Given the description of an element on the screen output the (x, y) to click on. 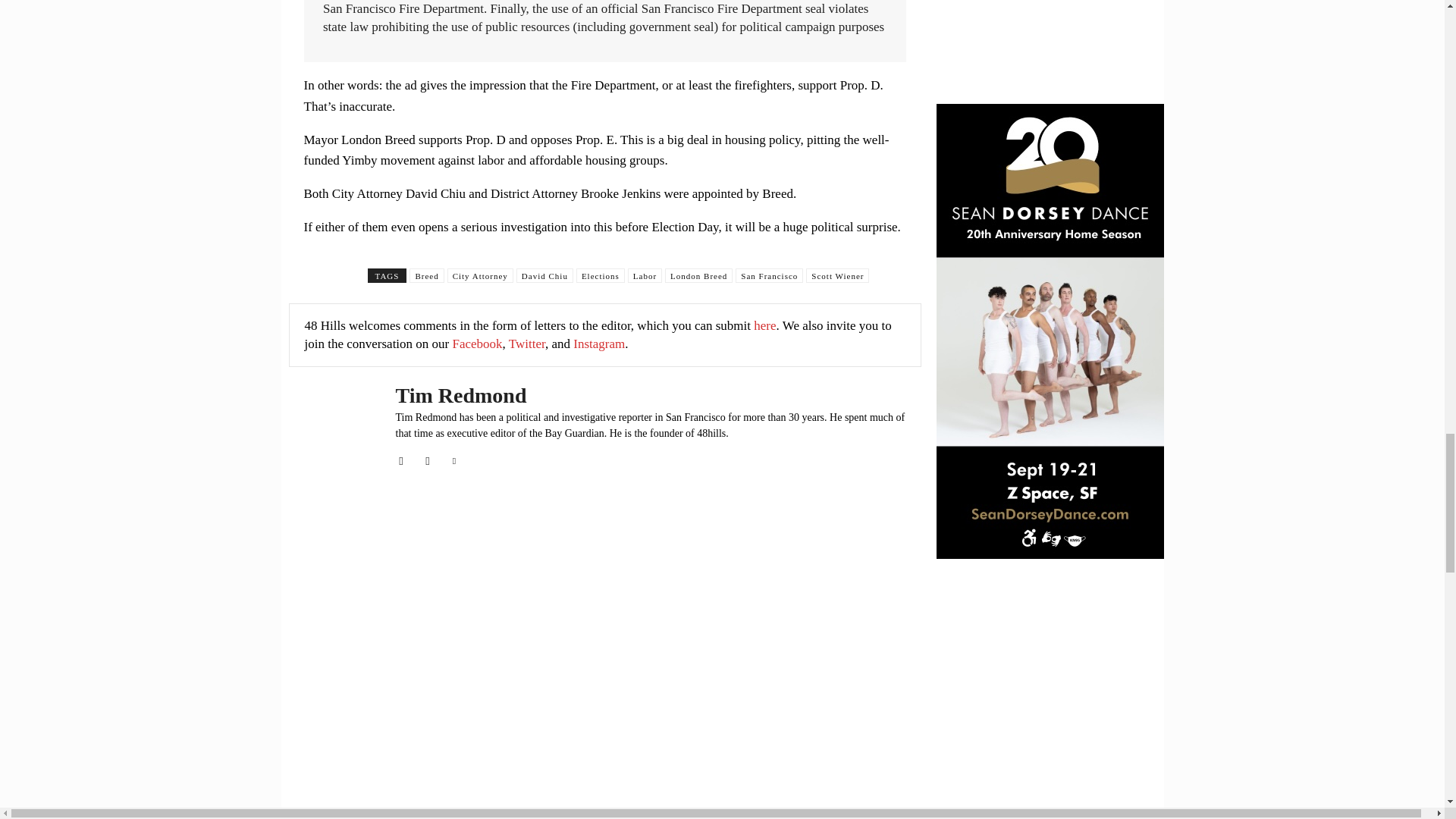
twitter (454, 457)
mail-1 (427, 457)
Tim Redmond (333, 426)
facebook (401, 457)
